Given the description of an element on the screen output the (x, y) to click on. 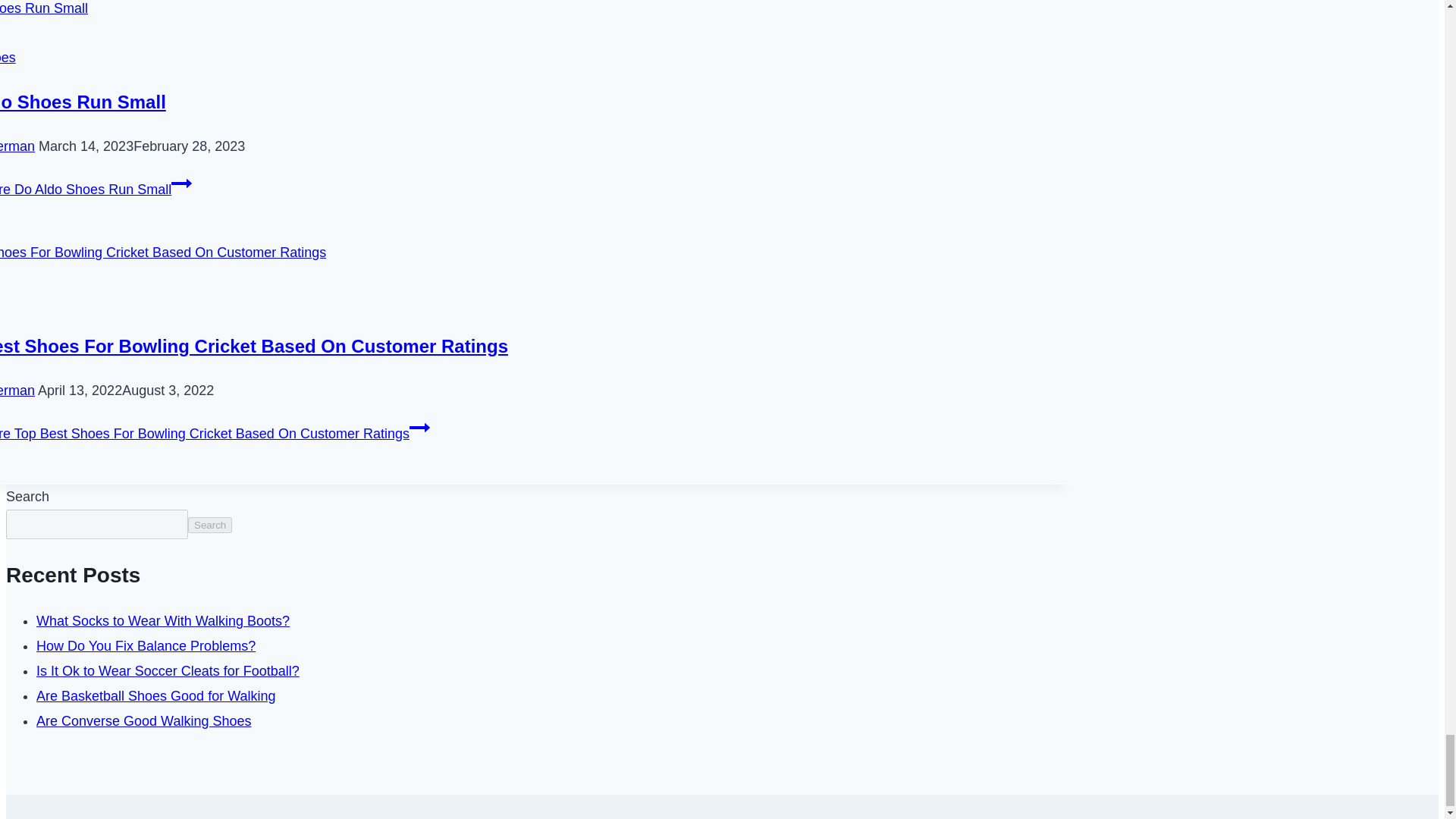
Continue (181, 183)
Continue (419, 427)
